Given the description of an element on the screen output the (x, y) to click on. 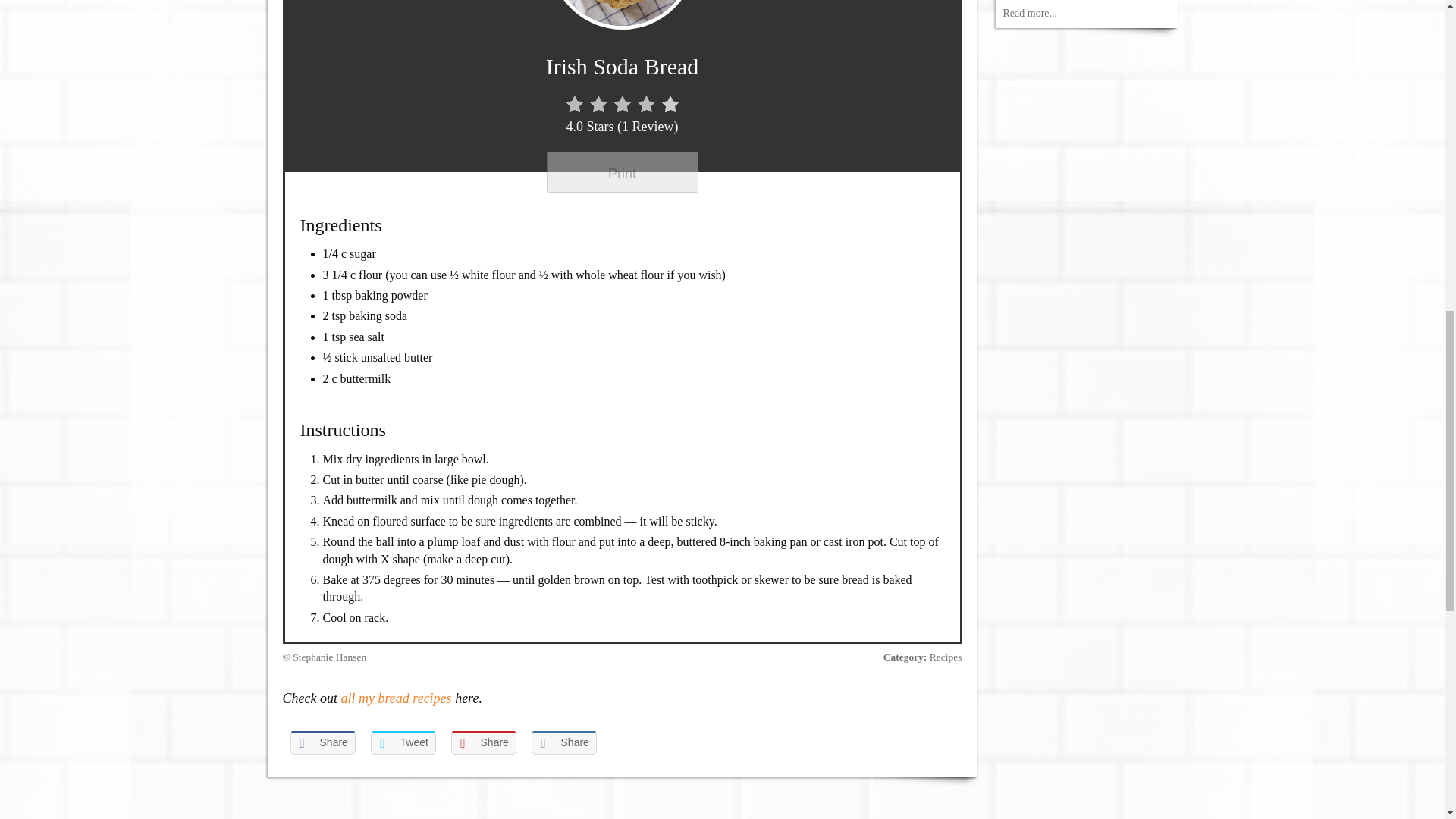
all my bread recipes (395, 698)
Share (482, 742)
Share on Twitter (402, 742)
Read more... (1030, 12)
Share (563, 742)
Tweet (402, 742)
Print (621, 171)
Share (322, 742)
Share on Pinterest (482, 742)
Share on LinkedIn (563, 742)
Share on Facebook (322, 742)
